Given the description of an element on the screen output the (x, y) to click on. 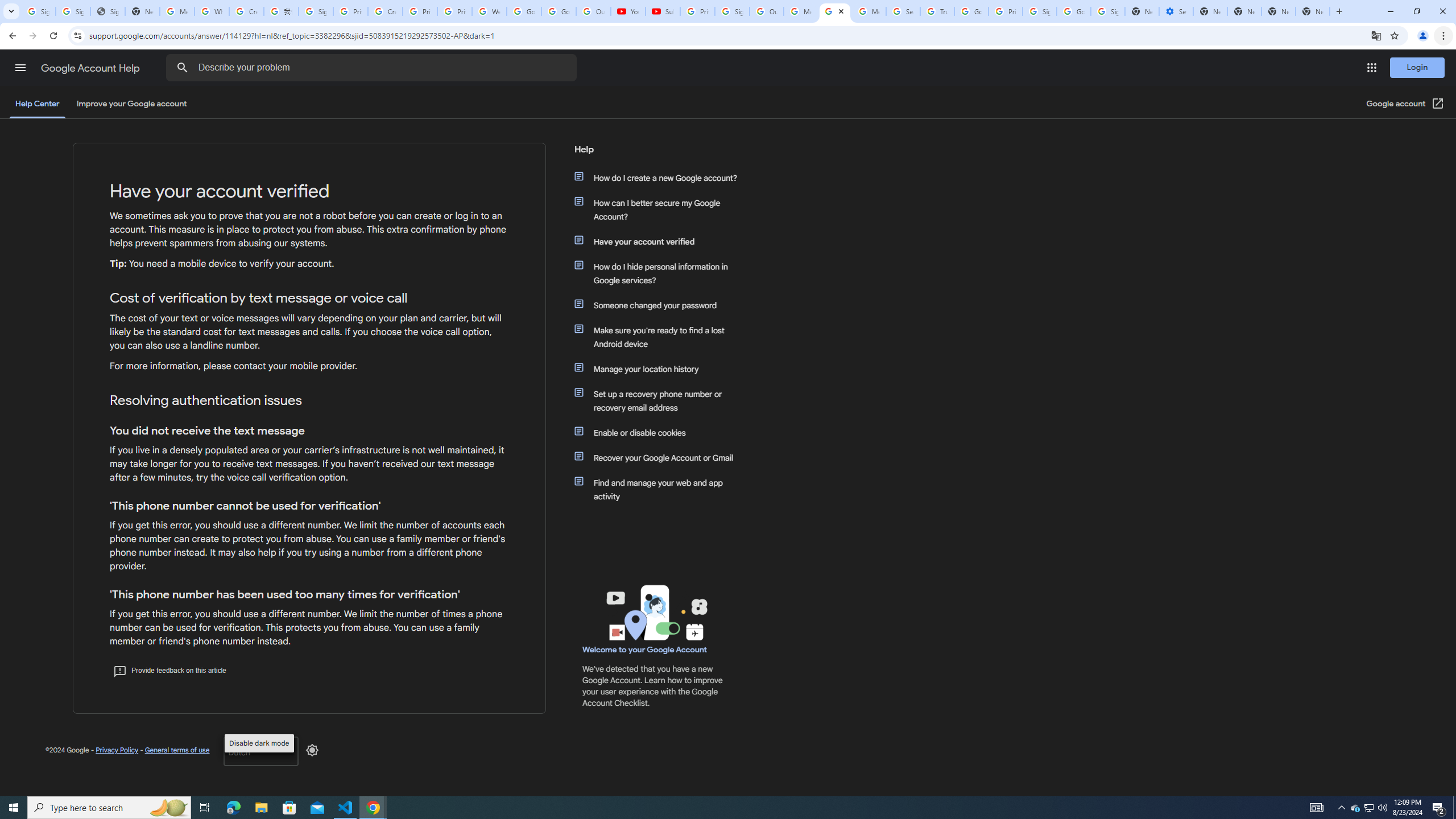
Describe your problem (373, 67)
Welcome to your Google Account (644, 649)
Learning Center home page image (655, 612)
Have your account verified (661, 241)
How do I create a new Google account? (661, 177)
Login (1417, 67)
Sign in - Google Accounts (315, 11)
How do I hide personal information in Google services? (661, 273)
